Given the description of an element on the screen output the (x, y) to click on. 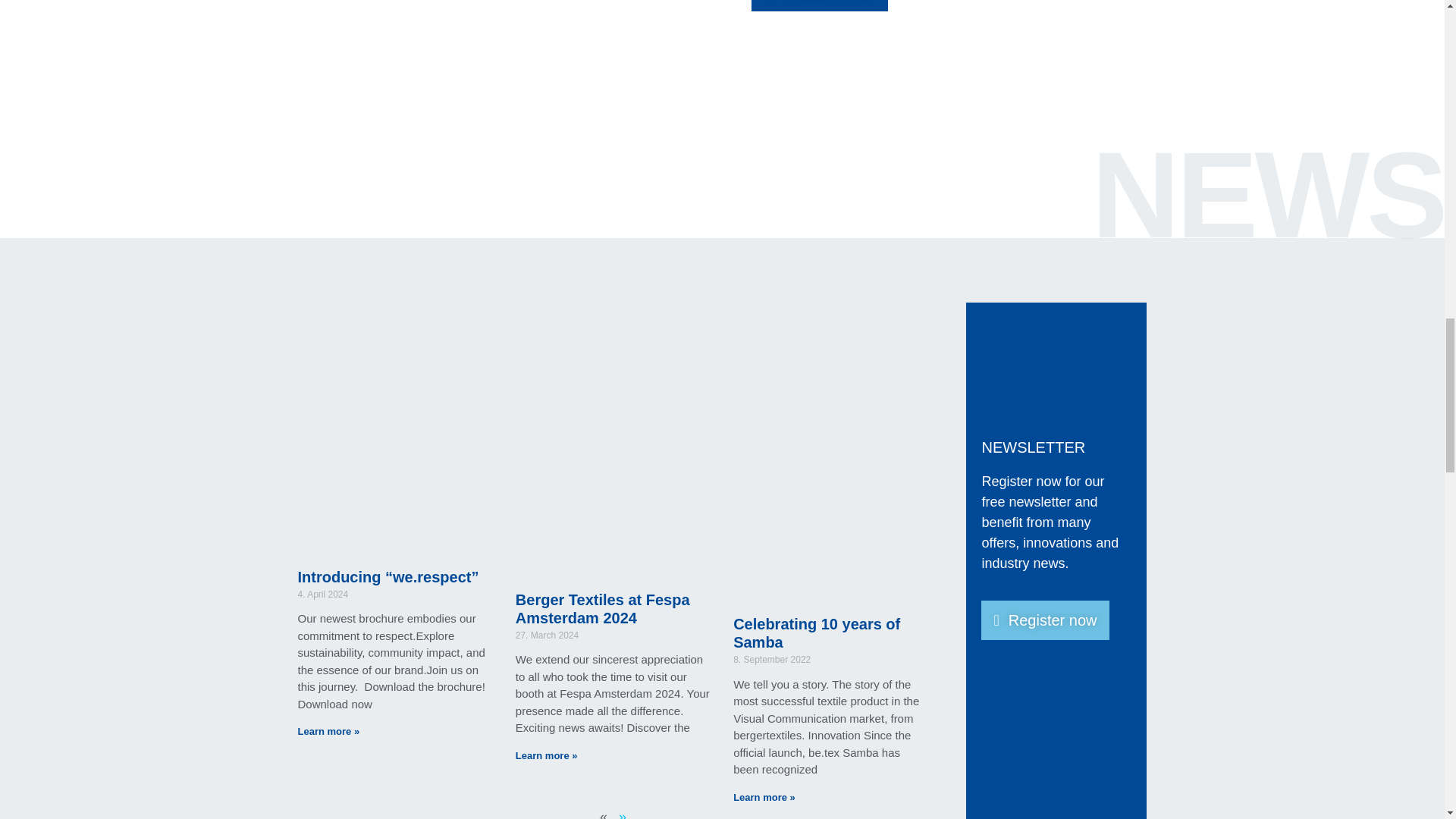
Berger Textiles at Fespa Amsterdam 2024 (602, 608)
Product finder (819, 5)
Celebrating 10 years of Samba (816, 632)
Register now (1044, 619)
